Given the description of an element on the screen output the (x, y) to click on. 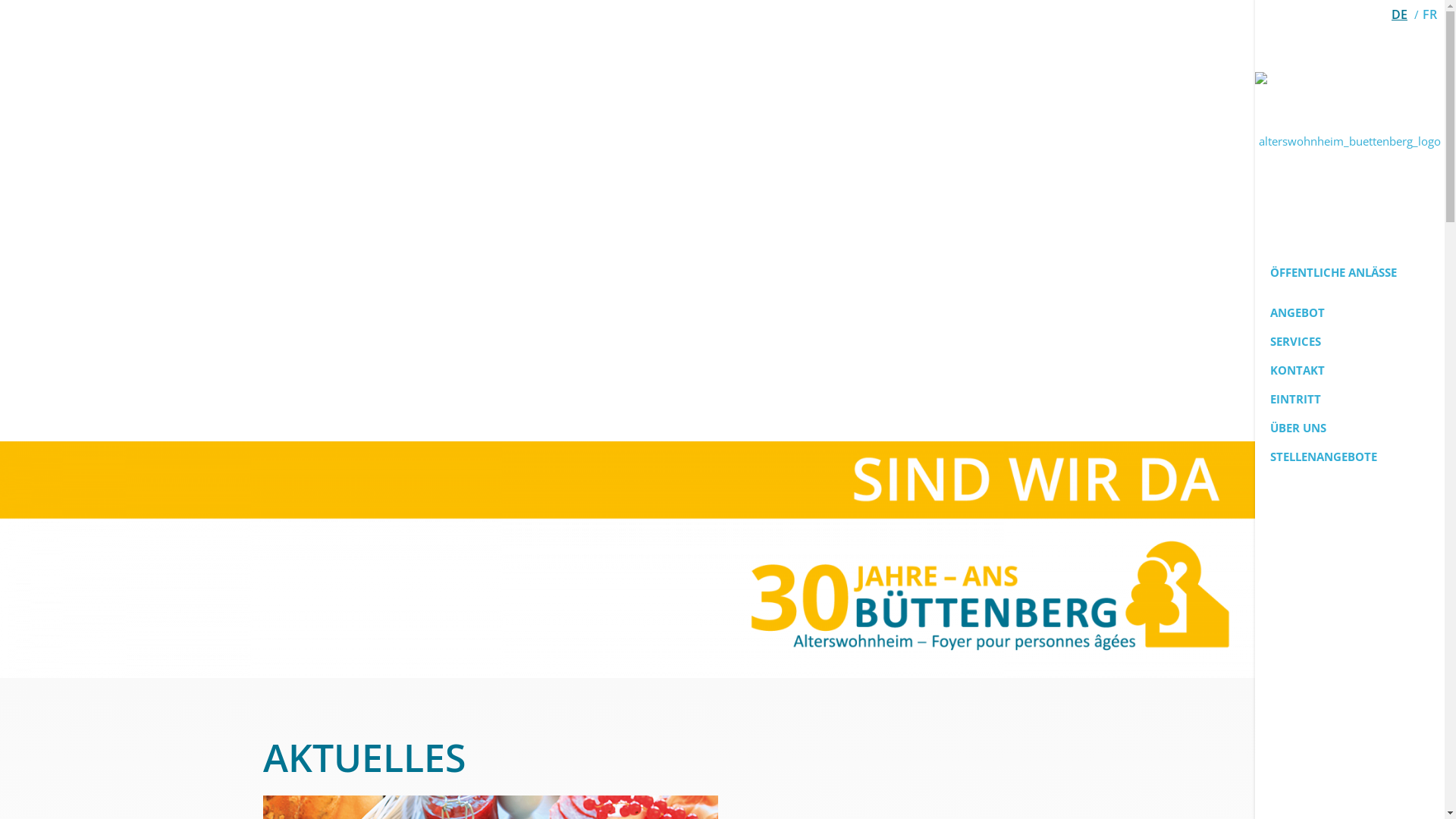
ANGEBOT Element type: text (1349, 312)
STELLENANGEBOTE Element type: text (1349, 456)
FR Element type: text (1429, 14)
SERVICES Element type: text (1349, 340)
KONTAKT Element type: text (1349, 369)
EINTRITT Element type: text (1349, 398)
DE Element type: text (1399, 14)
